Given the description of an element on the screen output the (x, y) to click on. 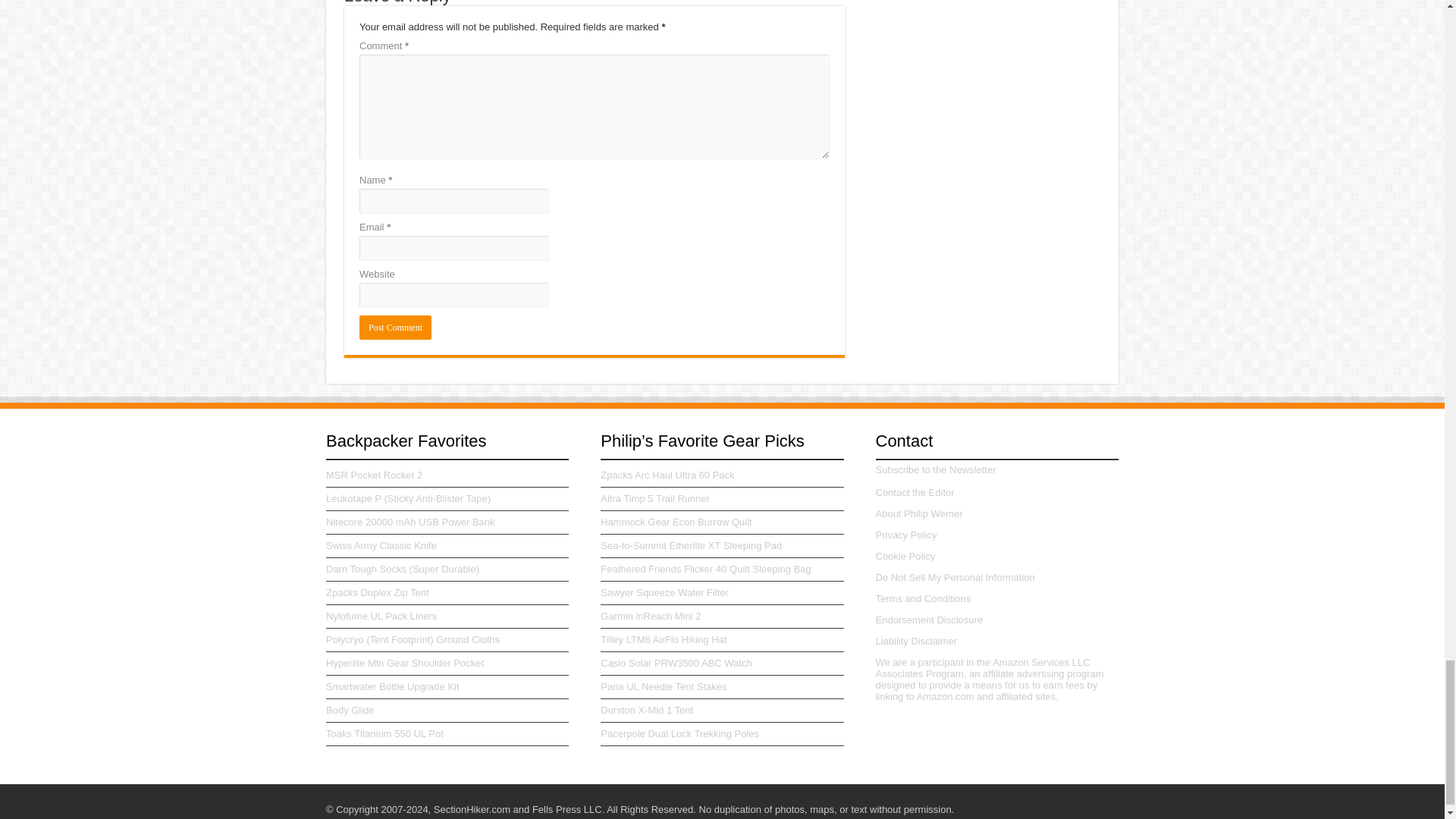
Post Comment (394, 326)
